Given the description of an element on the screen output the (x, y) to click on. 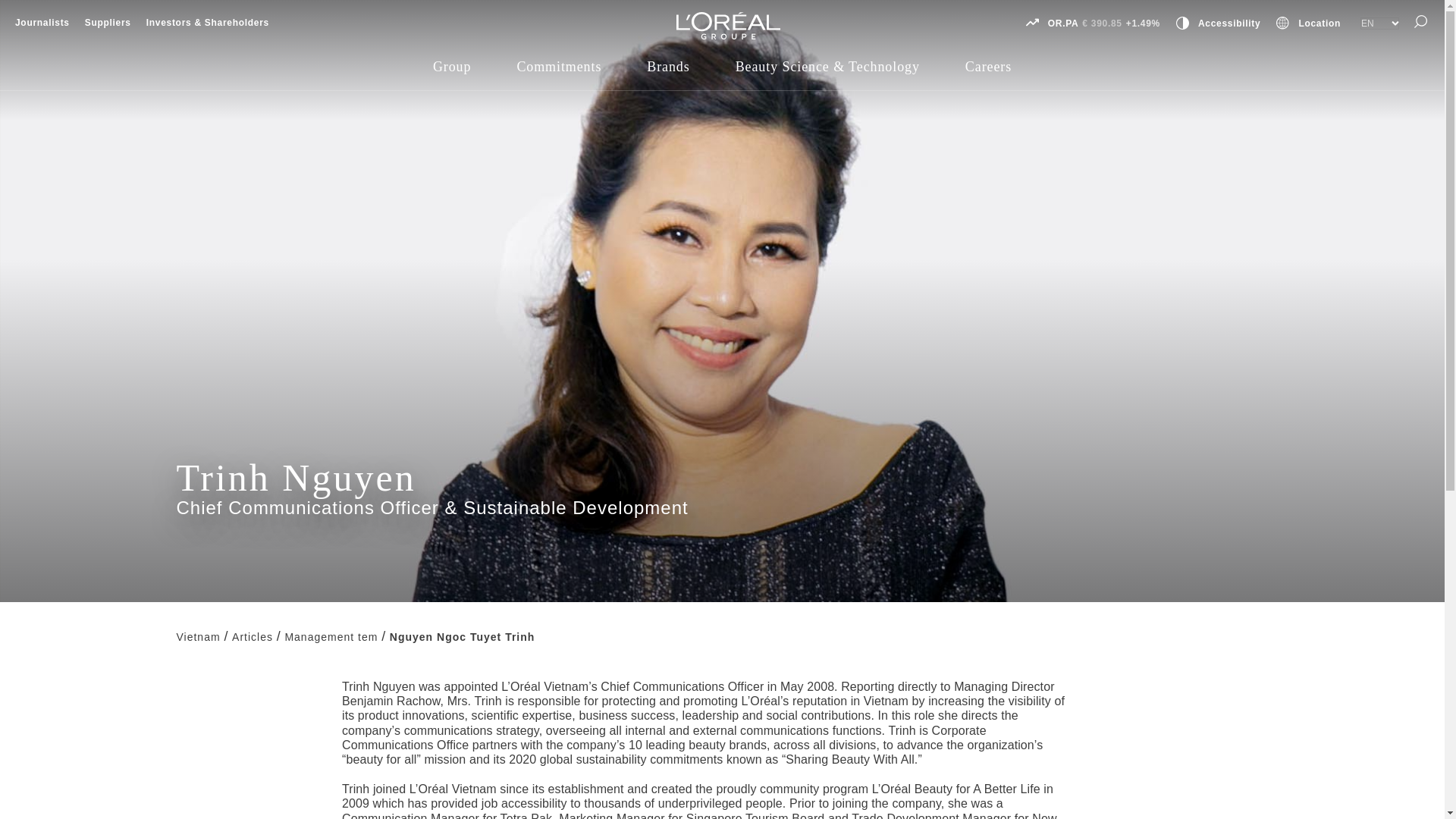
Journalists (41, 22)
Location (1319, 23)
Accessibility (1229, 23)
Suppliers (107, 22)
